Given the description of an element on the screen output the (x, y) to click on. 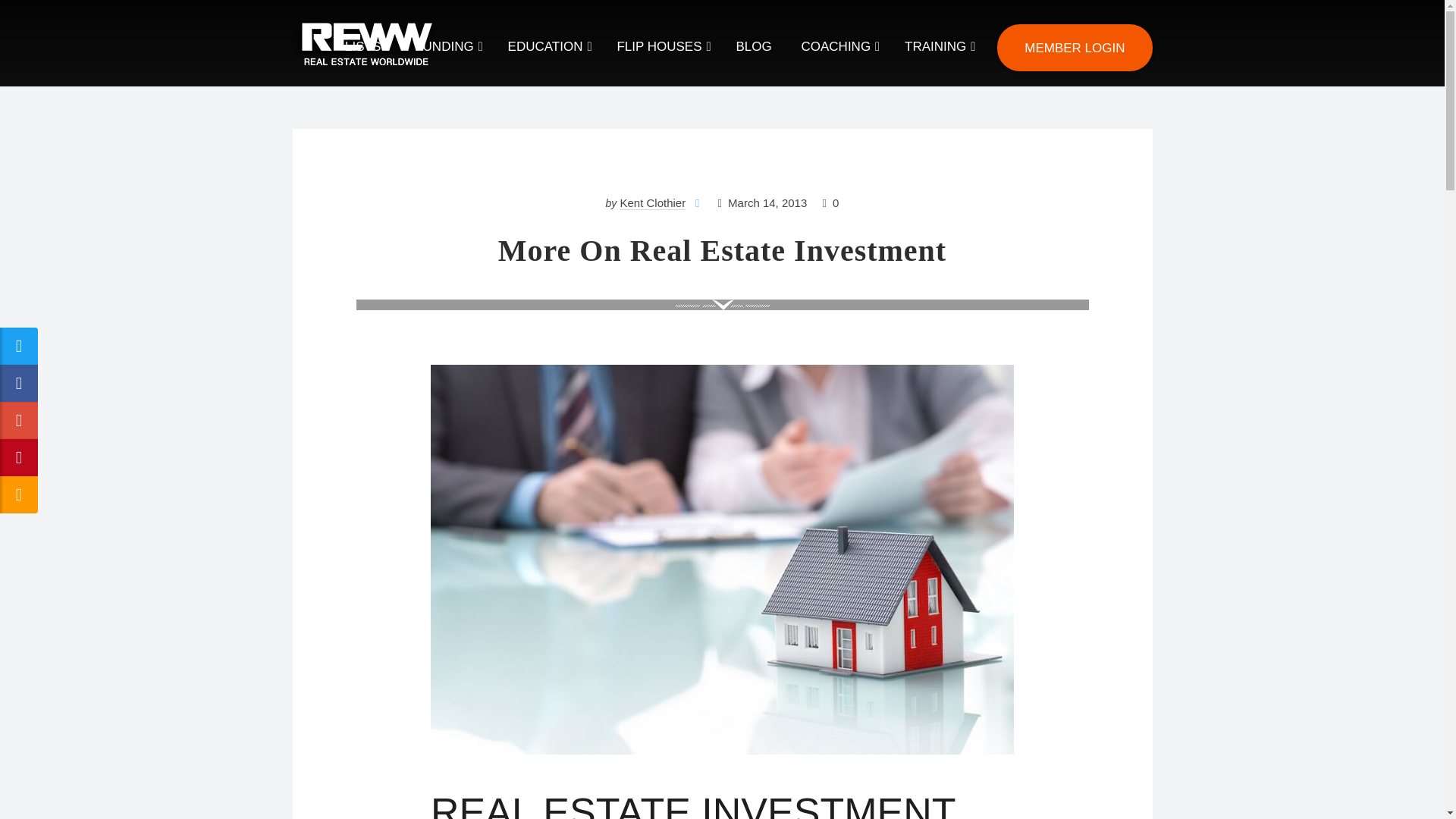
EDUCATION (547, 46)
COACHING (837, 46)
BLOG (753, 46)
FUNDING (446, 46)
LISTS (364, 46)
FLIP HOUSES (661, 46)
TRAINING (937, 46)
